Given the description of an element on the screen output the (x, y) to click on. 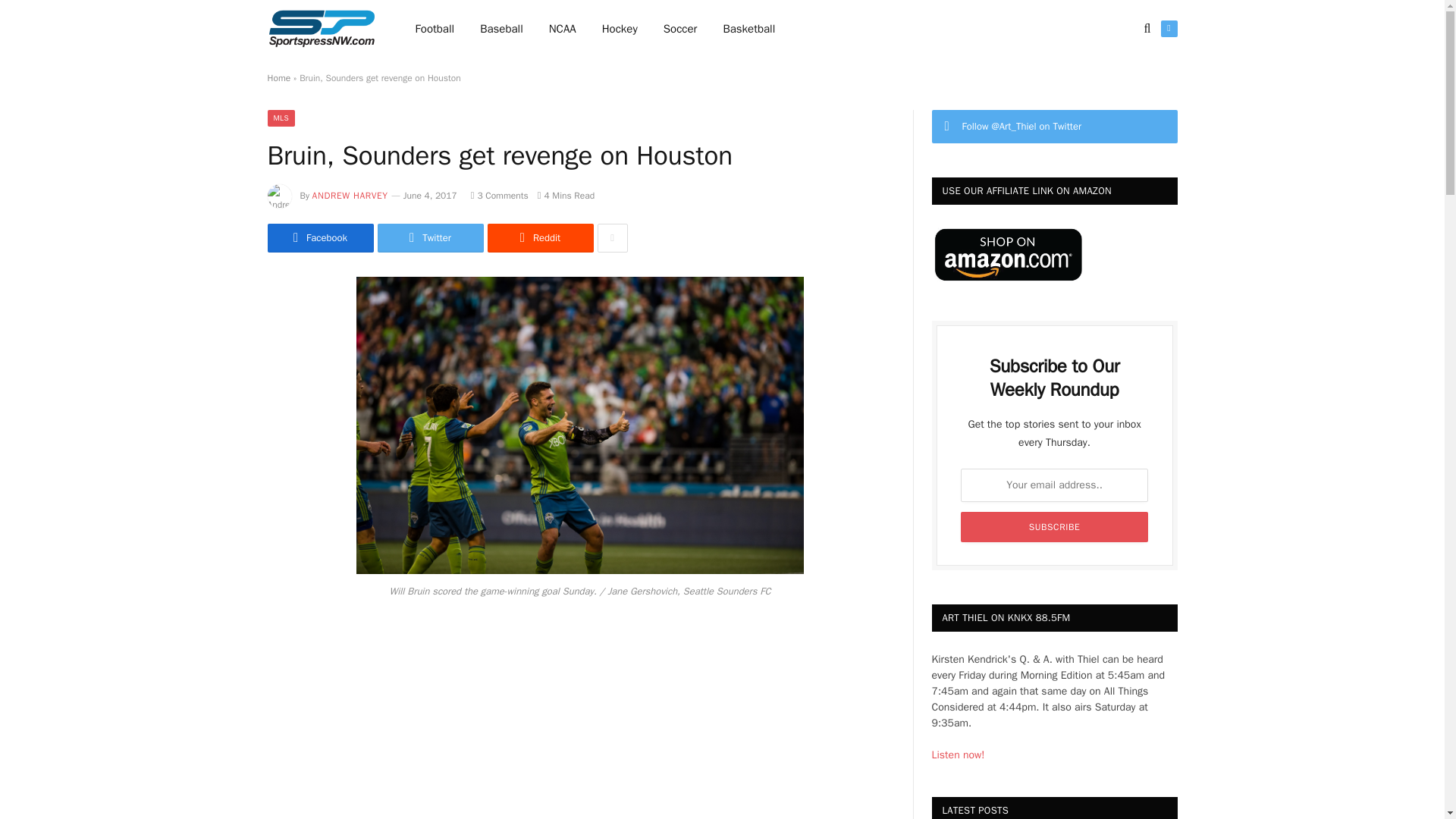
NCAA (562, 28)
Soccer (680, 28)
Home (277, 78)
Posts by Andrew Harvey (350, 195)
Share on Twitter (319, 237)
Football (435, 28)
ANDREW HARVEY (350, 195)
MLS (280, 117)
Subscribe (1053, 526)
Twitter (430, 237)
Basketball (748, 28)
Baseball (501, 28)
Twitter (1168, 28)
3 Comments (499, 195)
Reddit (539, 237)
